Given the description of an element on the screen output the (x, y) to click on. 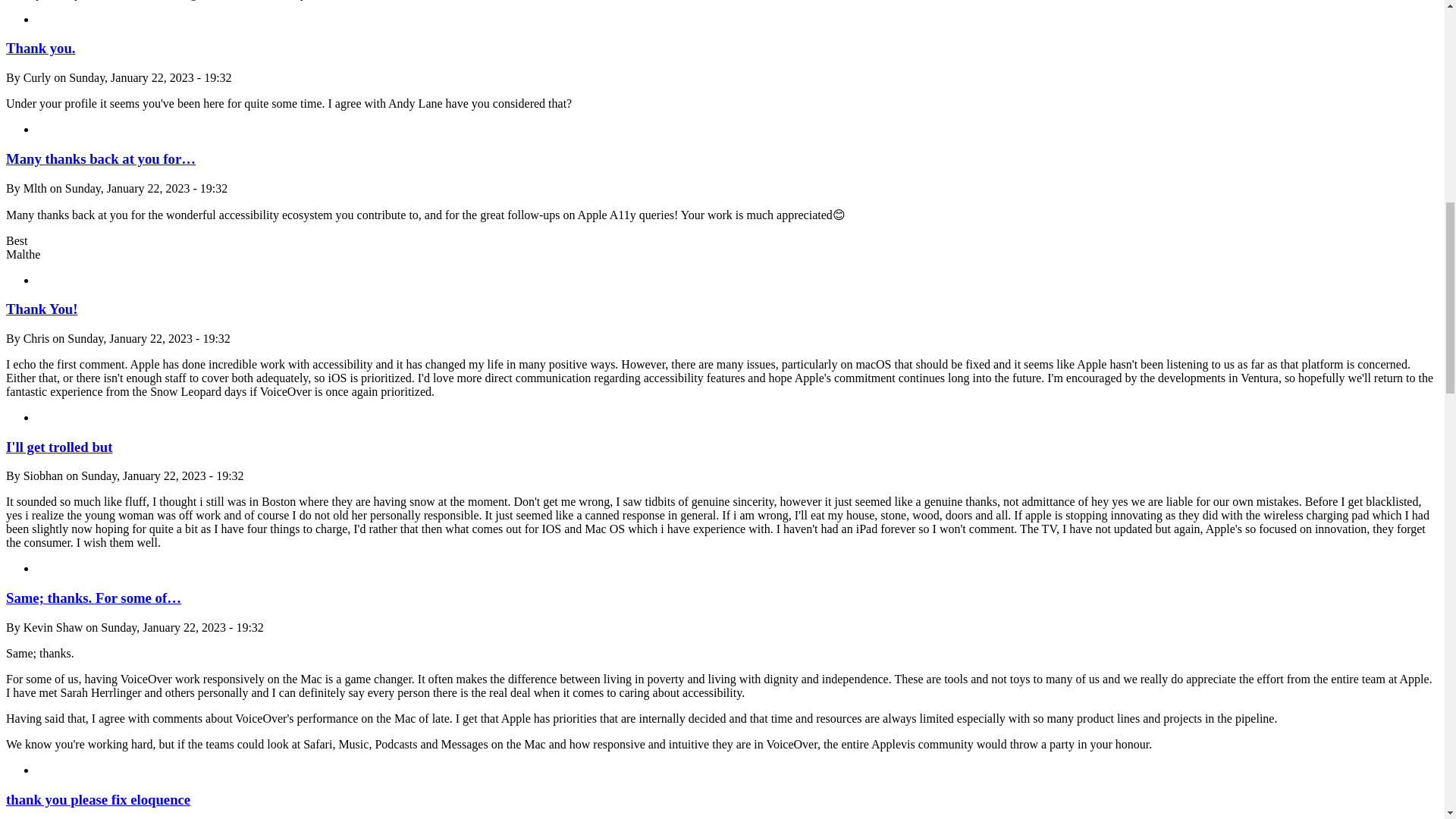
thank you please fix eloquence (97, 799)
Thank You! (41, 308)
Thank you. (40, 48)
I'll get trolled but (58, 446)
